Given the description of an element on the screen output the (x, y) to click on. 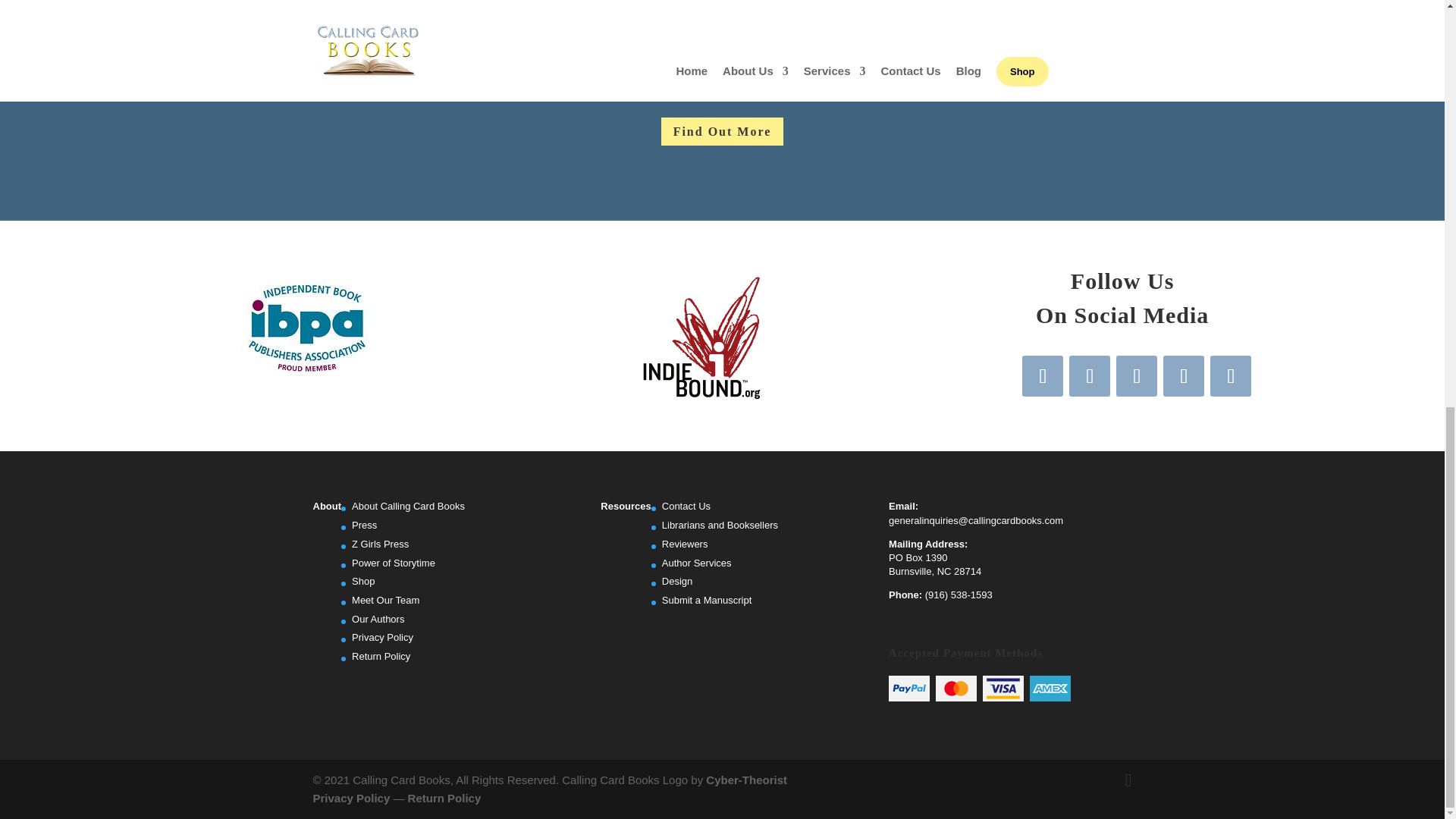
Follow on Instagram (1136, 375)
Follow on Youtube (1229, 375)
Follow on Facebook (1042, 375)
Follow on Twitter (1088, 375)
Follow on Pinterest (1183, 375)
